Given the description of an element on the screen output the (x, y) to click on. 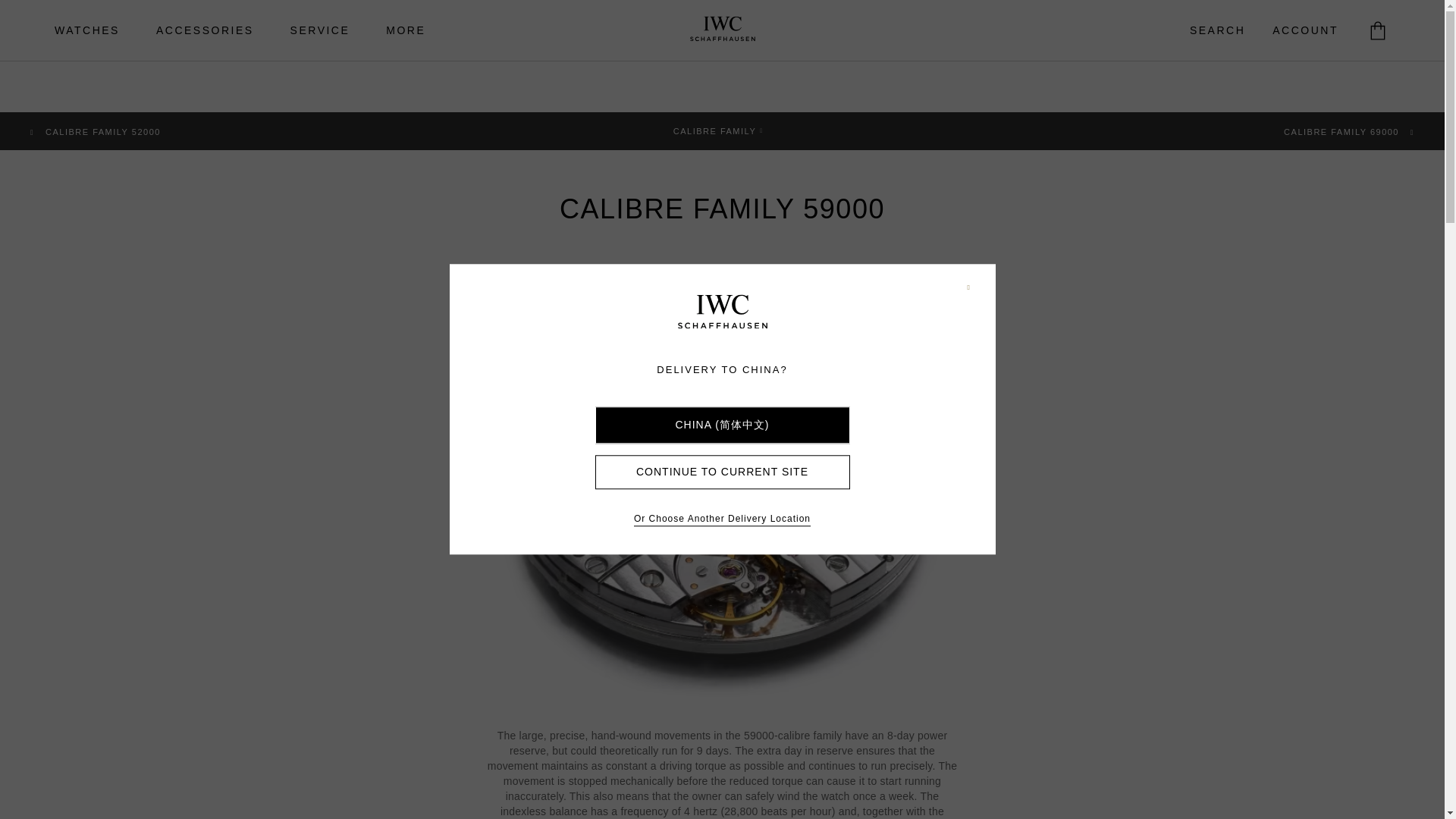
SEARCH (1217, 30)
Or Choose Another Delivery Location (721, 520)
WATCHES (87, 30)
IWC SCHAFFHAUSEN (722, 313)
SERVICE (320, 30)
IWC SCHAFFHAUSEN (722, 311)
MORE (406, 30)
ACCESSORIES (205, 30)
ACCOUNT (1305, 30)
